Given the description of an element on the screen output the (x, y) to click on. 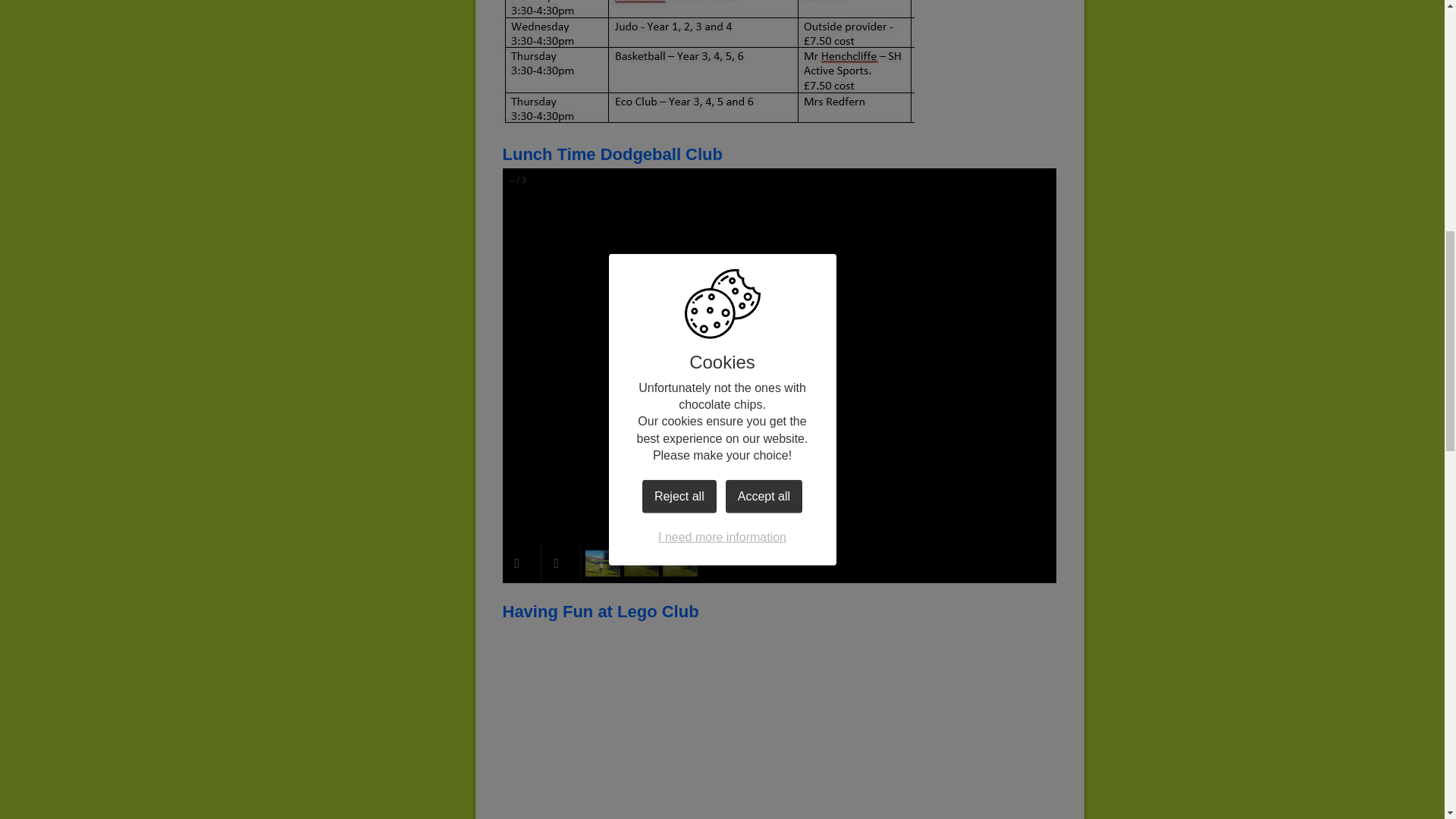
View large version of image (920, 721)
View large version of image (636, 721)
